Given the description of an element on the screen output the (x, y) to click on. 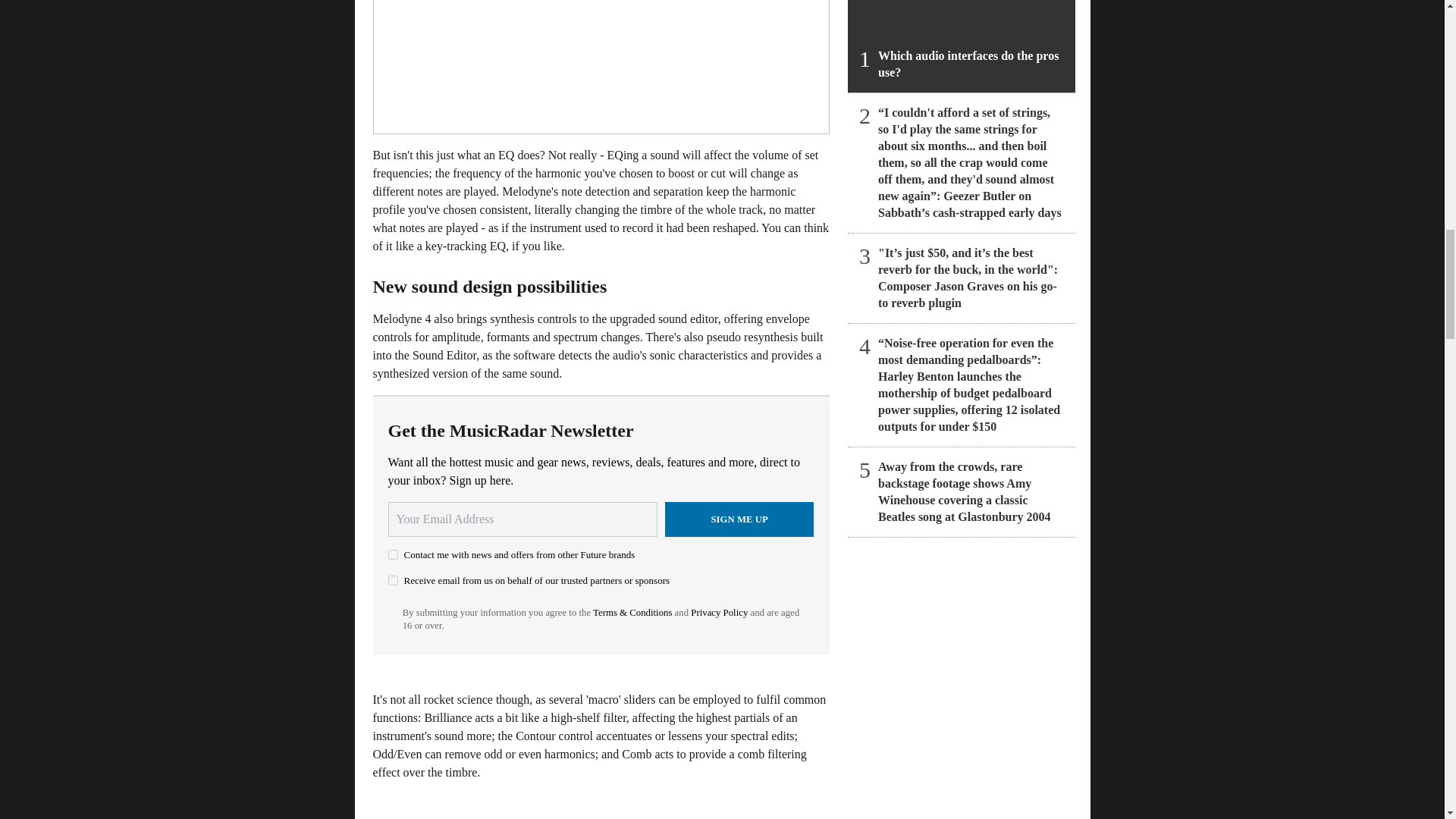
on (392, 580)
Which audio interfaces do the pros use? (961, 46)
on (392, 554)
Sign me up (739, 519)
